Given the description of an element on the screen output the (x, y) to click on. 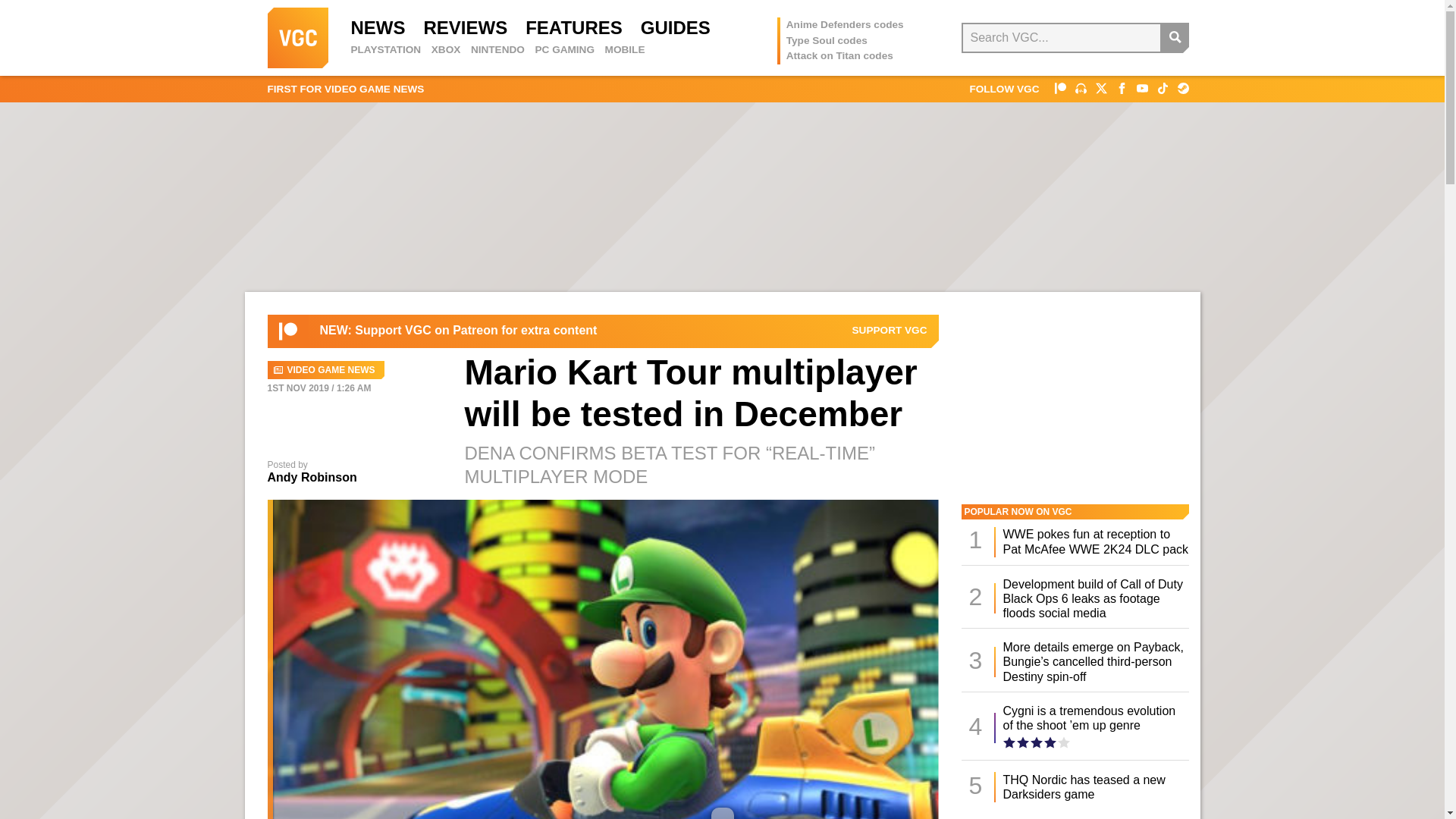
Type Soul codes (826, 40)
NEW: Support VGC on Patreon for extra content (457, 330)
Posts by Andy Robinson (311, 477)
PC GAMING (564, 49)
MOBILE (625, 49)
REVIEWS (464, 27)
XBOX (445, 49)
FEATURES (574, 27)
VGC (296, 37)
Anime Defenders codes (845, 24)
PLAYSTATION (385, 49)
NINTENDO (497, 49)
NEWS (377, 27)
VIDEO GAME NEWS (325, 370)
SUPPORT VGC (889, 330)
